Given the description of an element on the screen output the (x, y) to click on. 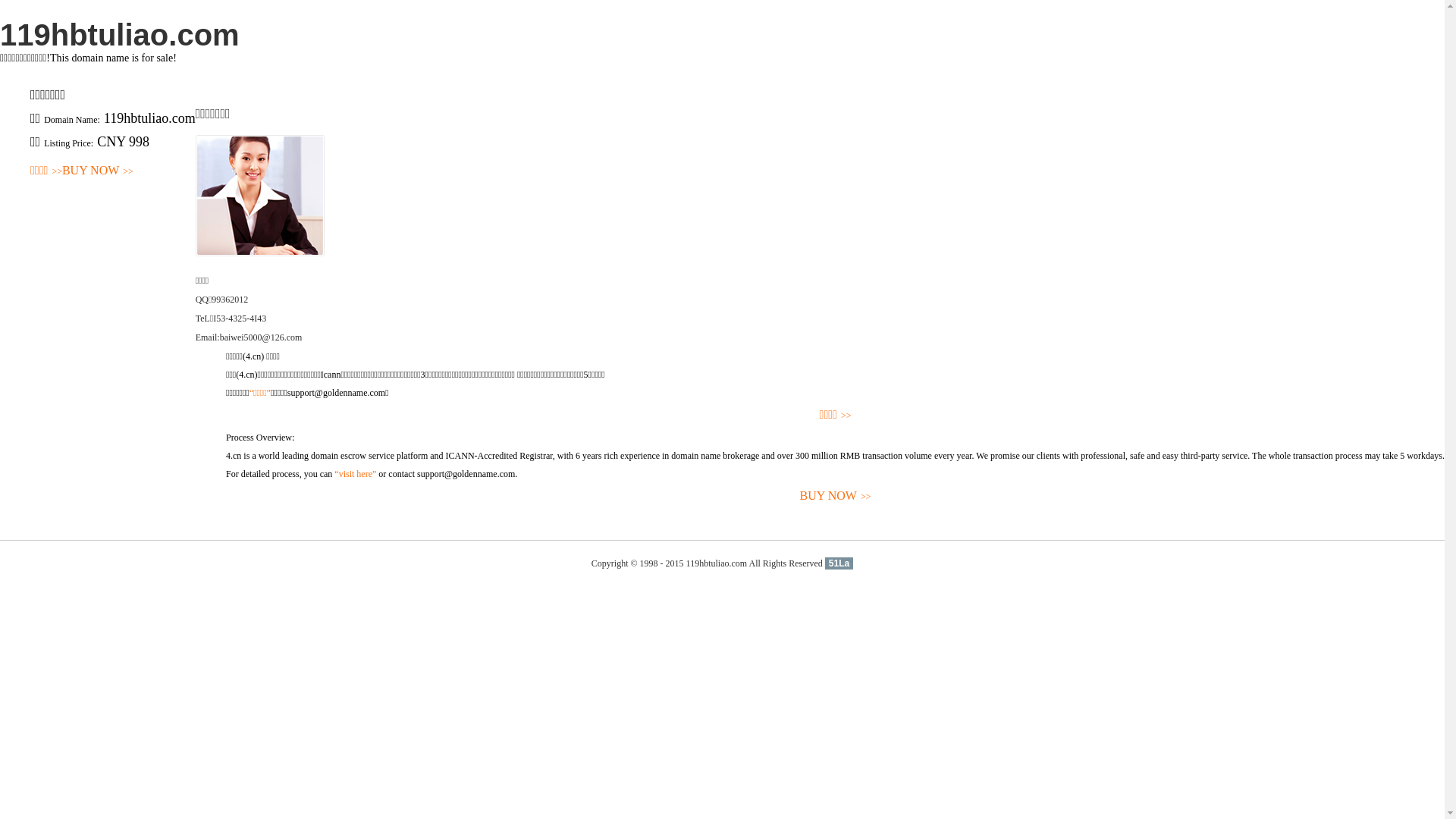
BUY NOW>> Element type: text (834, 496)
BUY NOW>> Element type: text (97, 170)
51La Element type: text (839, 563)
